Given the description of an element on the screen output the (x, y) to click on. 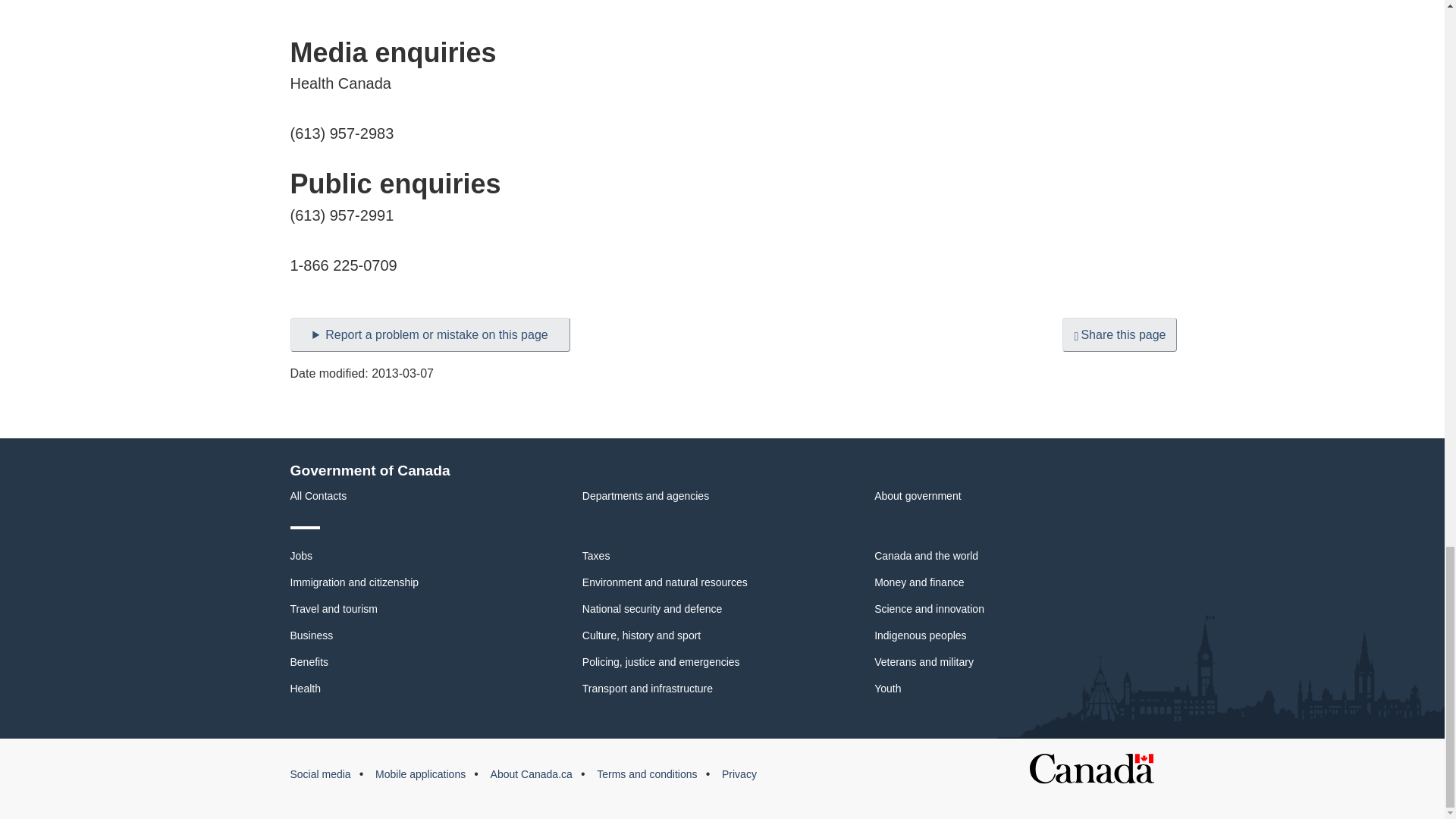
Jobs (301, 555)
Health (304, 688)
Departments and agencies (645, 495)
Business section. (311, 635)
Benefits (309, 662)
Taxes (596, 555)
Benefits section. (309, 662)
All Contacts section. (317, 495)
Environment and natural resources (665, 582)
Policing, justice and emergencies (660, 662)
Travel and tourism section. (333, 608)
Transport and infrastructure (647, 688)
Departments and agencies section. (645, 495)
About government (917, 495)
Business (311, 635)
